Given the description of an element on the screen output the (x, y) to click on. 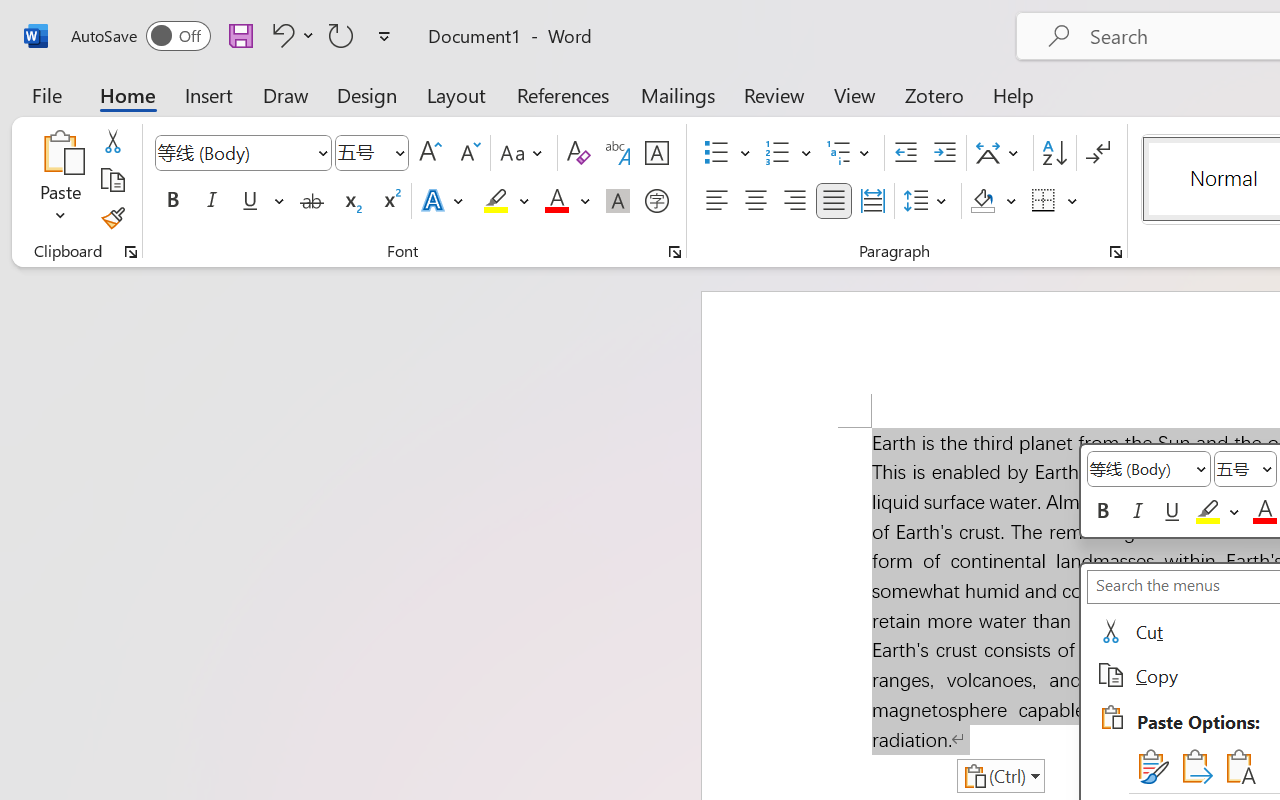
Undo Paste Text Only (290, 35)
Show/Hide Editing Marks (1098, 153)
Keep Text Only (1238, 766)
Text Highlight Color Yellow (495, 201)
Subscript (350, 201)
Shrink Font (468, 153)
Text Highlight Color (506, 201)
Align Right (794, 201)
